Given the description of an element on the screen output the (x, y) to click on. 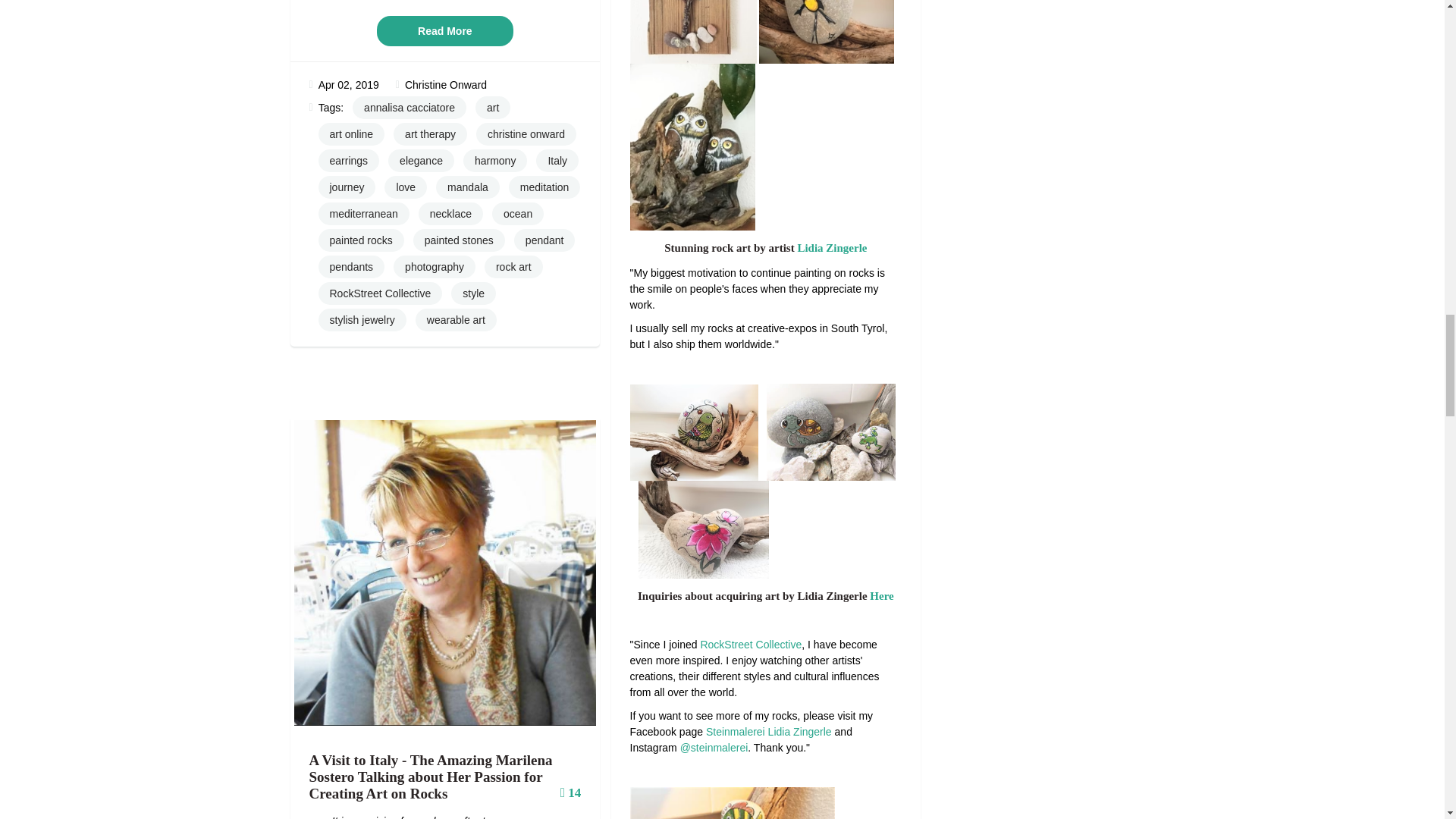
Read More (445, 30)
earrings (349, 160)
art (493, 107)
art online (351, 133)
elegance (421, 160)
art therapy (430, 133)
christine onward (526, 133)
annalisa cacciatore (408, 107)
